Given the description of an element on the screen output the (x, y) to click on. 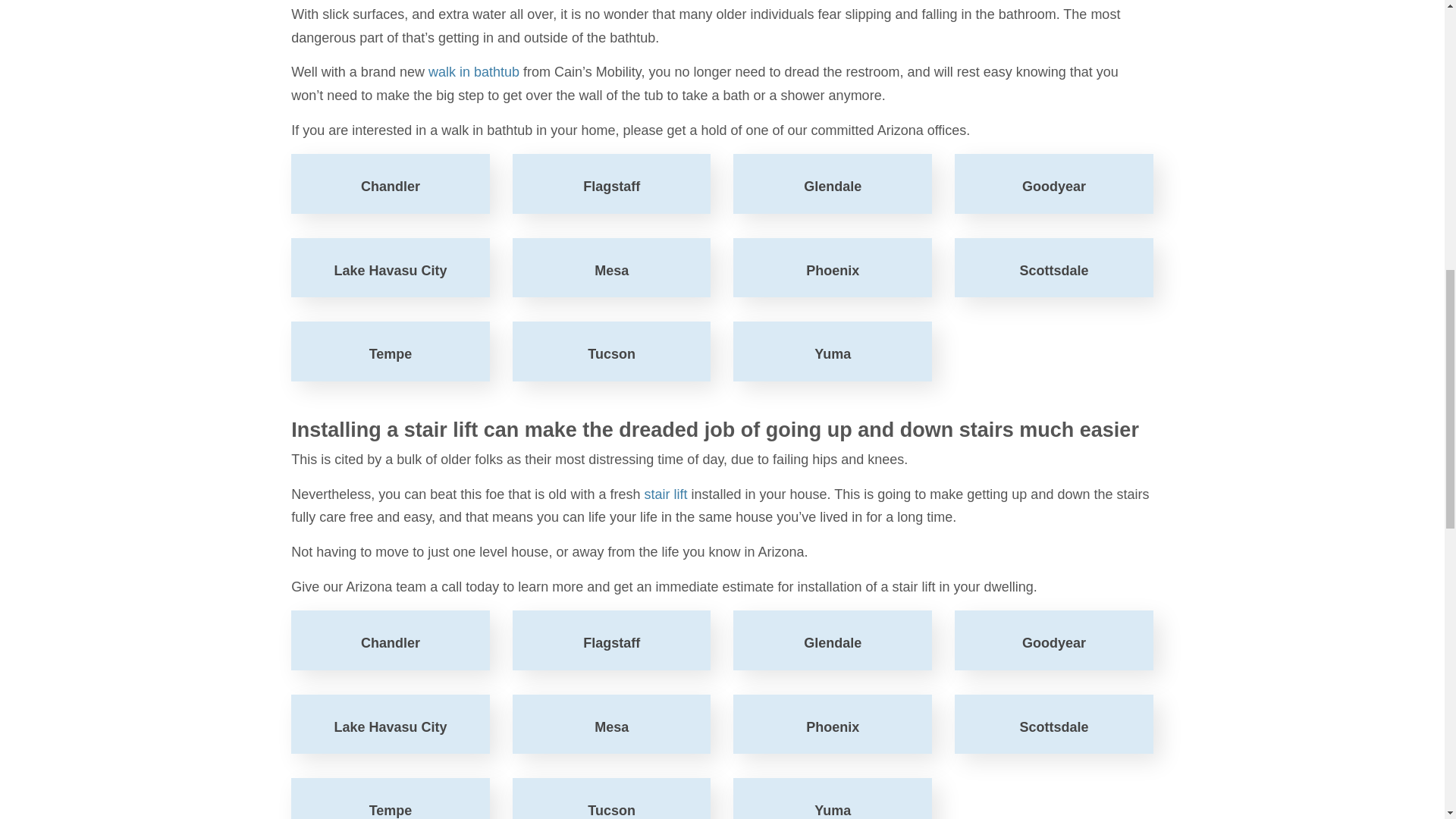
Tempe (390, 351)
Scottsdale (1054, 724)
Flagstaff (611, 640)
Phoenix (832, 268)
Glendale (832, 183)
Yuma (832, 351)
Lake Havasu City (390, 268)
Chandler (390, 640)
Chandler (390, 640)
Goodyear (1054, 183)
